Given the description of an element on the screen output the (x, y) to click on. 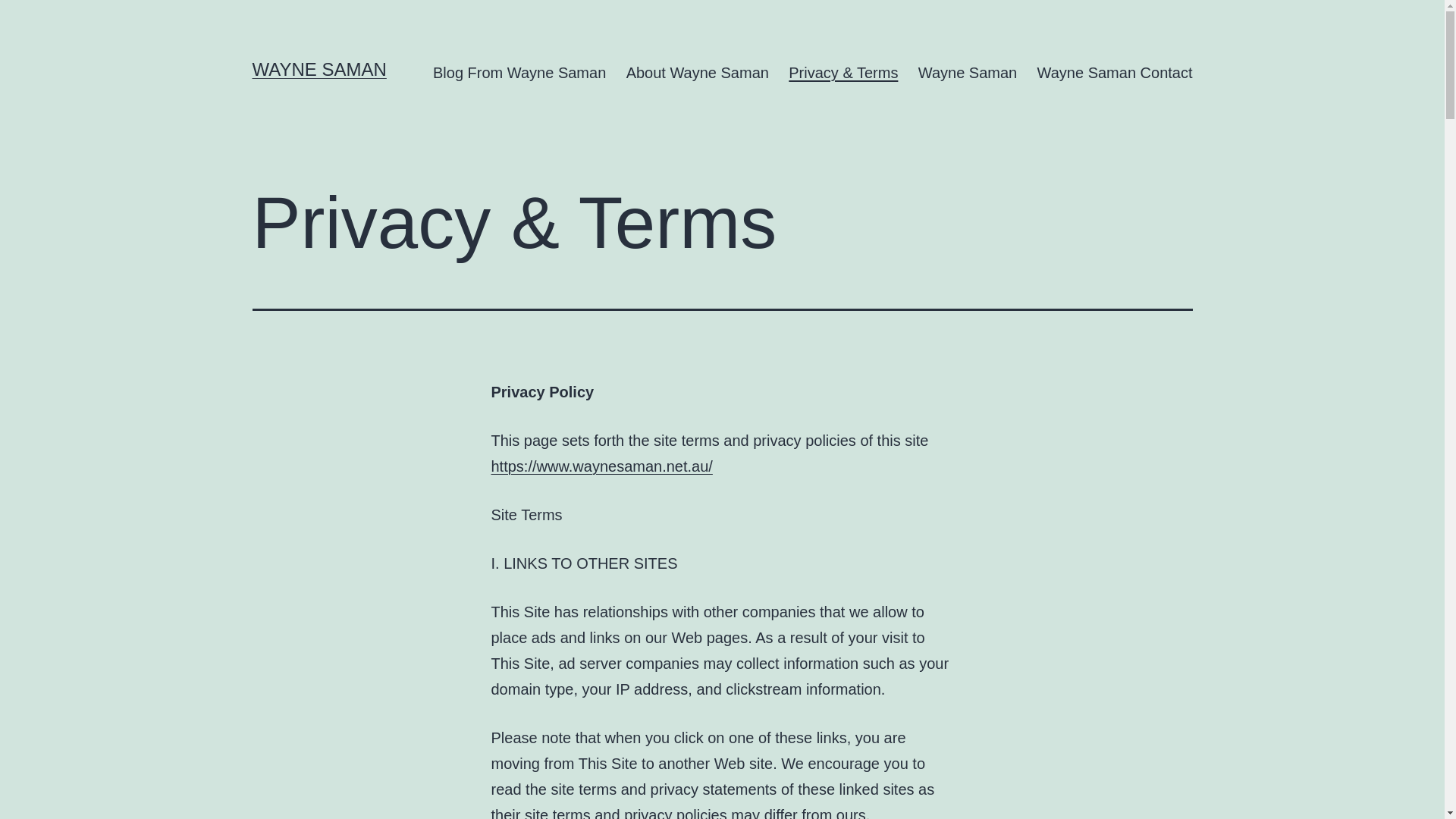
WAYNE SAMAN Element type: text (318, 69)
Blog From Wayne Saman Element type: text (519, 72)
About Wayne Saman Element type: text (696, 72)
Privacy & Terms Element type: text (842, 72)
Wayne Saman Element type: text (967, 72)
https://www.waynesaman.net.au/ Element type: text (601, 466)
Wayne Saman Contact Element type: text (1113, 72)
